Given the description of an element on the screen output the (x, y) to click on. 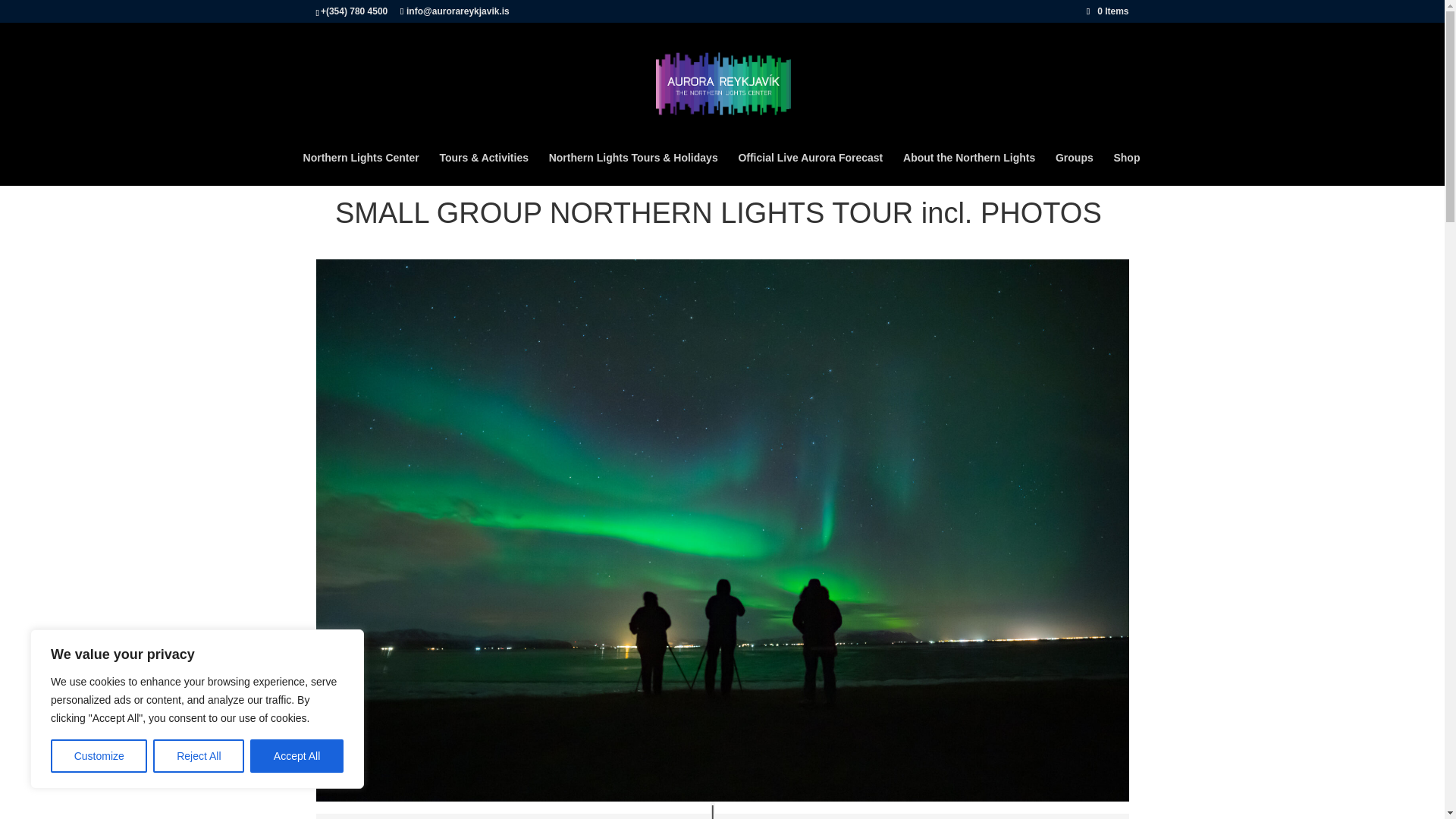
Official Live Aurora Forecast (810, 168)
Reject All (198, 756)
0 Items (1107, 10)
About the Northern Lights (968, 168)
Customize (98, 756)
Groups (1074, 168)
Northern Lights Center (360, 168)
Accept All (296, 756)
